Given the description of an element on the screen output the (x, y) to click on. 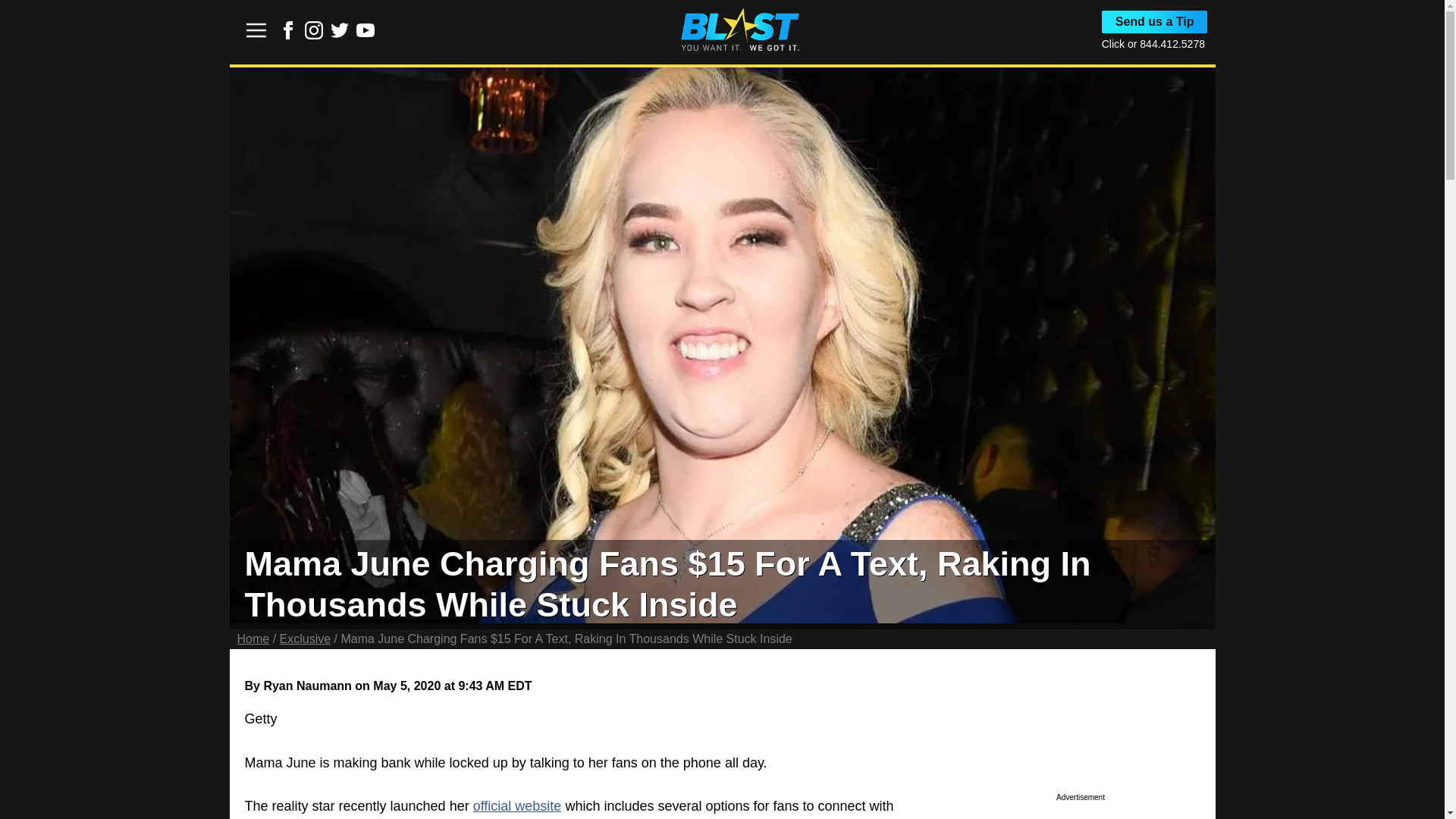
Link to Youtube (365, 30)
Link to Twitter (339, 30)
Link to Youtube (365, 34)
Link to Facebook (288, 30)
Link to Facebook (288, 34)
Home (252, 638)
Link to Instagram (313, 30)
Click or 844.412.5278 (1153, 43)
Send us a Tip (1155, 21)
Exclusive (305, 638)
